Given the description of an element on the screen output the (x, y) to click on. 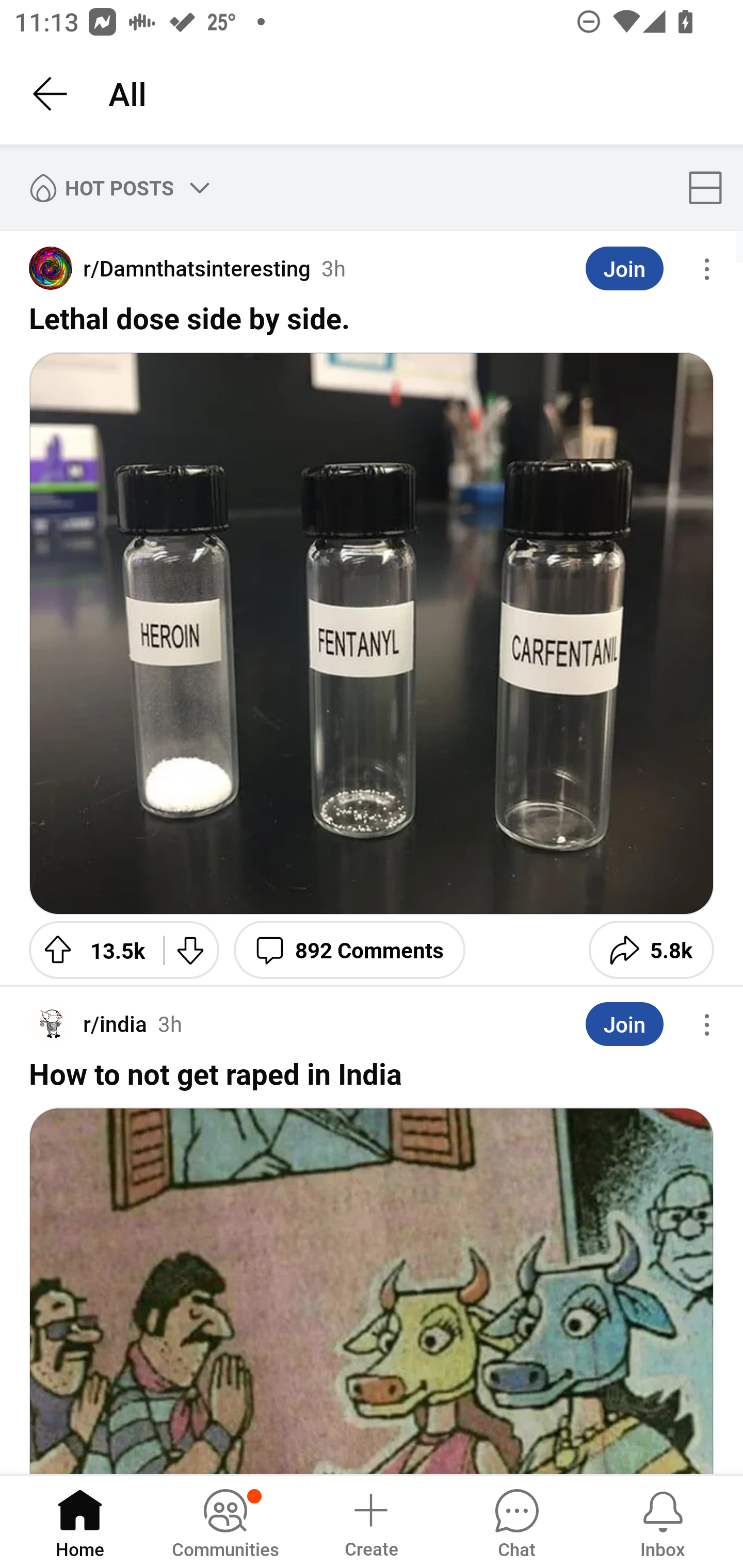
HOT POSTS Sort by Hot posts (115, 187)
Card display (711, 187)
Avatar r/Damnthatsinteresting (169, 267)
Join (624, 268)
Overflow menu (706, 268)
Image (371, 633)
Upvote 13.5k (88, 949)
Downvote (191, 949)
892 Comments (349, 949)
Share 5.8k (651, 949)
Avatar r/india (87, 1023)
Join (624, 1024)
Overflow menu (706, 1024)
Image (371, 1290)
Home (80, 1520)
Communities, has notifications Communities (225, 1520)
Create a post Create (370, 1520)
Chat (516, 1520)
Inbox (662, 1520)
